Given the description of an element on the screen output the (x, y) to click on. 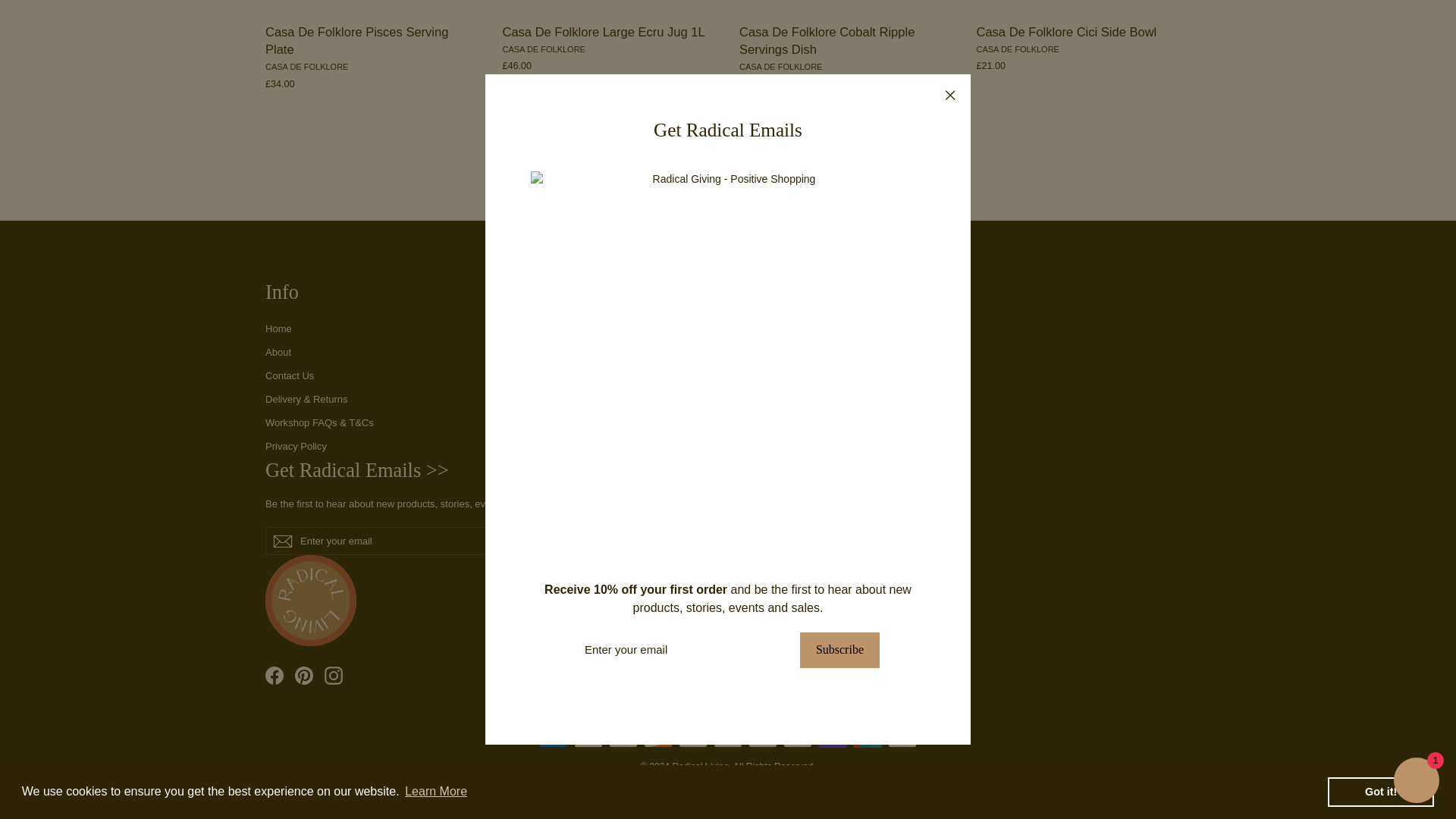
Got it! (1380, 65)
American Express (552, 738)
Maestro (727, 738)
Union Pay (867, 738)
PayPal (797, 738)
Apple Pay (587, 738)
Google Pay (692, 738)
Shop Pay (832, 738)
Diners Club (622, 738)
Learn More (435, 65)
Shopify online store chat (1416, 56)
Mastercard (762, 738)
Visa (902, 738)
Discover (657, 738)
